Given the description of an element on the screen output the (x, y) to click on. 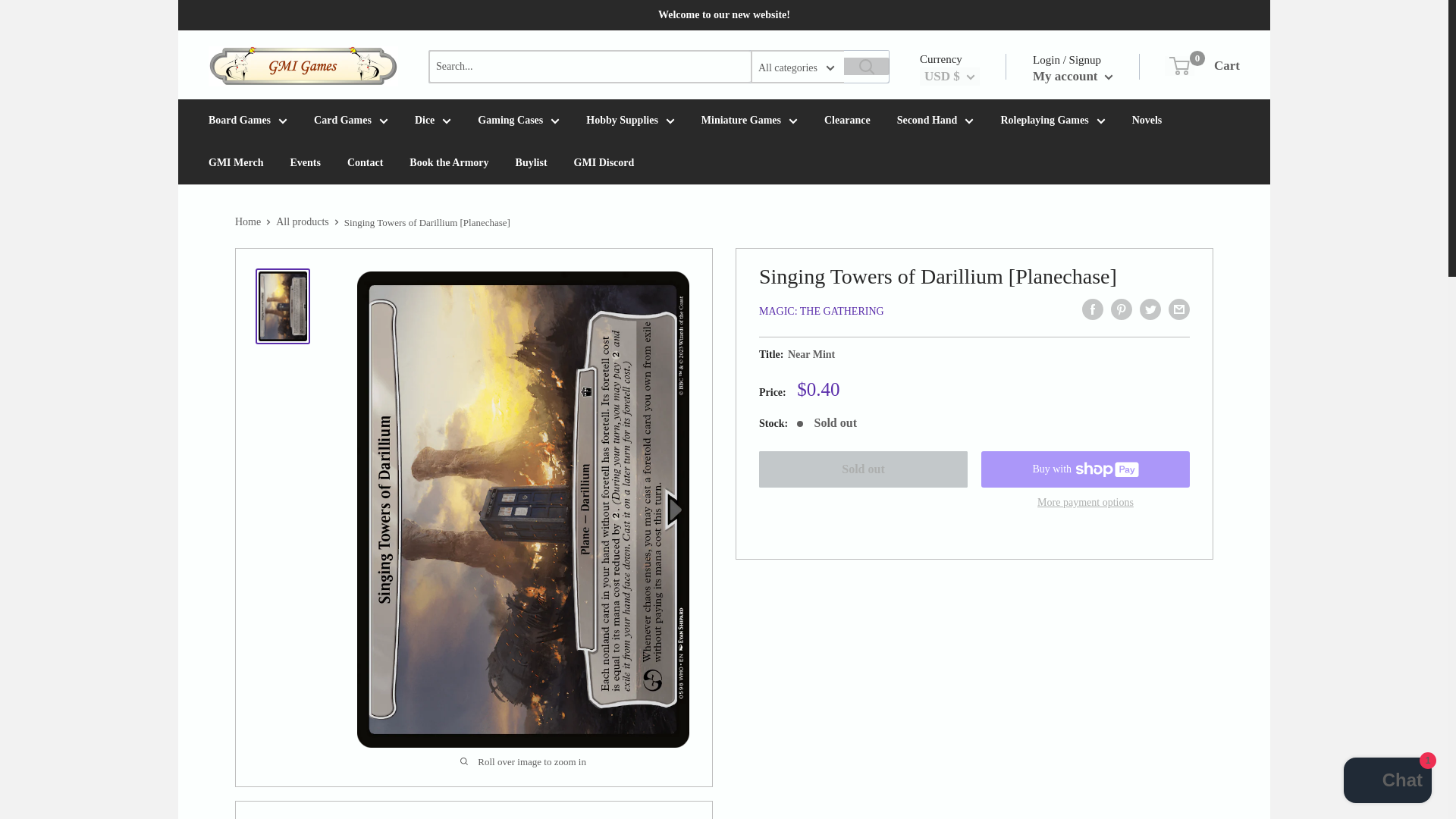
Search (866, 66)
Toggle Currency Selector (949, 76)
